Given the description of an element on the screen output the (x, y) to click on. 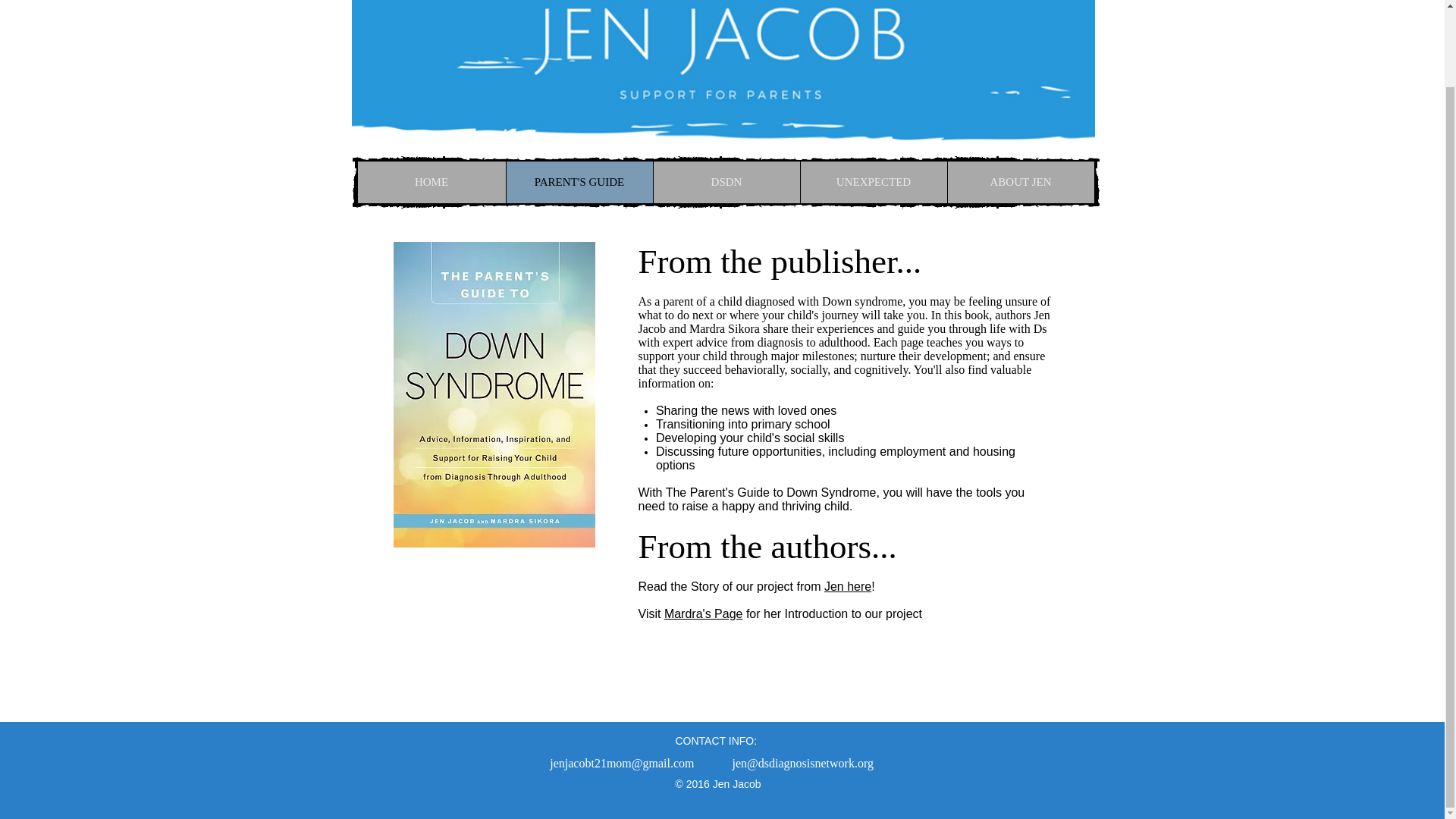
Jen here (847, 585)
UNEXPECTED (872, 182)
DSDN (725, 182)
PARENT'S GUIDE (578, 182)
HOME (431, 182)
Mardra's Page (702, 613)
ABOUT JEN (1019, 182)
